Given the description of an element on the screen output the (x, y) to click on. 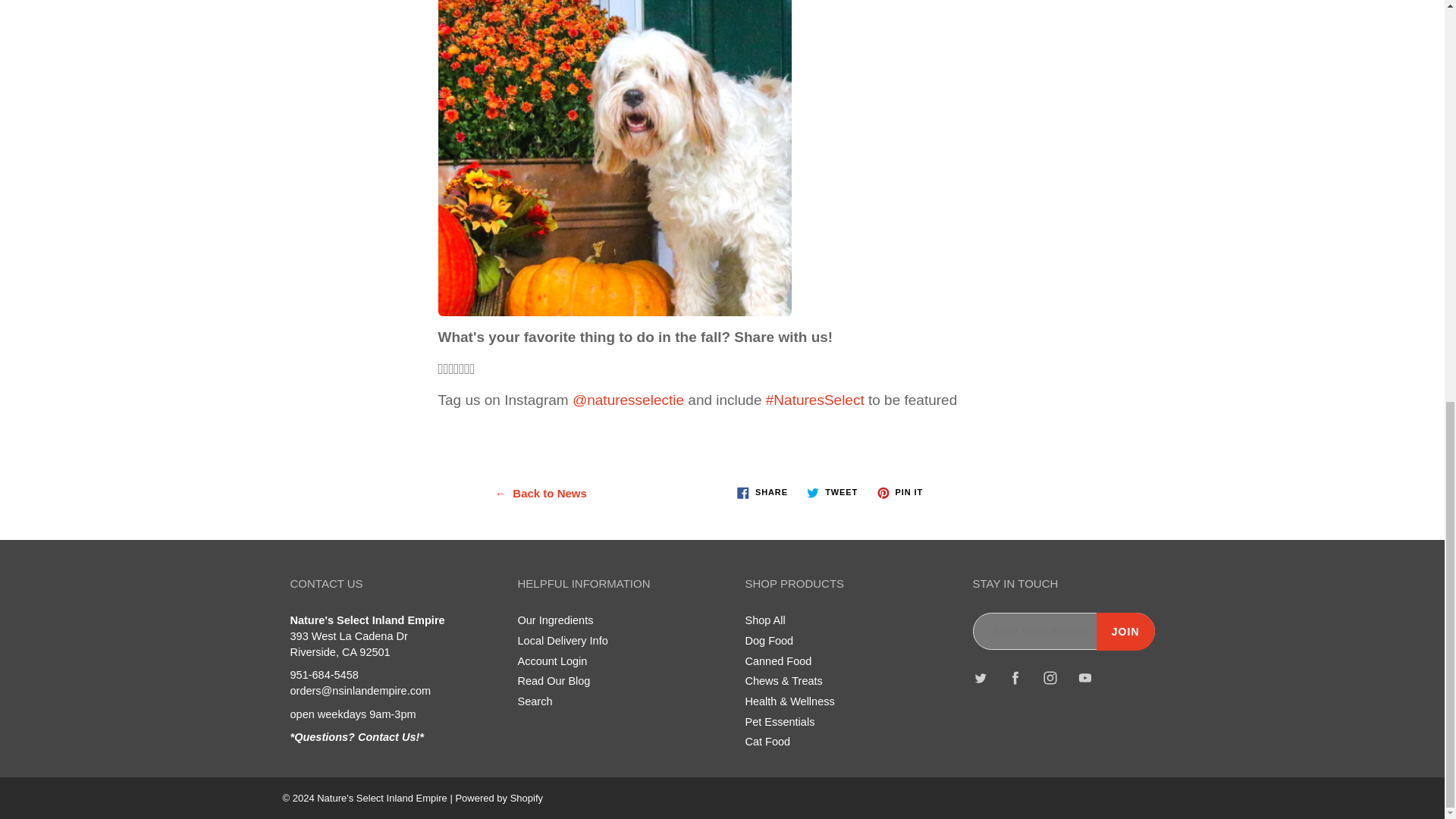
Tag us on Instagram  (814, 399)
Share on Facebook (761, 492)
nsinlandempire (636, 399)
Contact Us (356, 736)
Nature's Select on Instagram (579, 399)
Tweet on Twitter (831, 492)
Pin on Pinterest (899, 492)
